Given the description of an element on the screen output the (x, y) to click on. 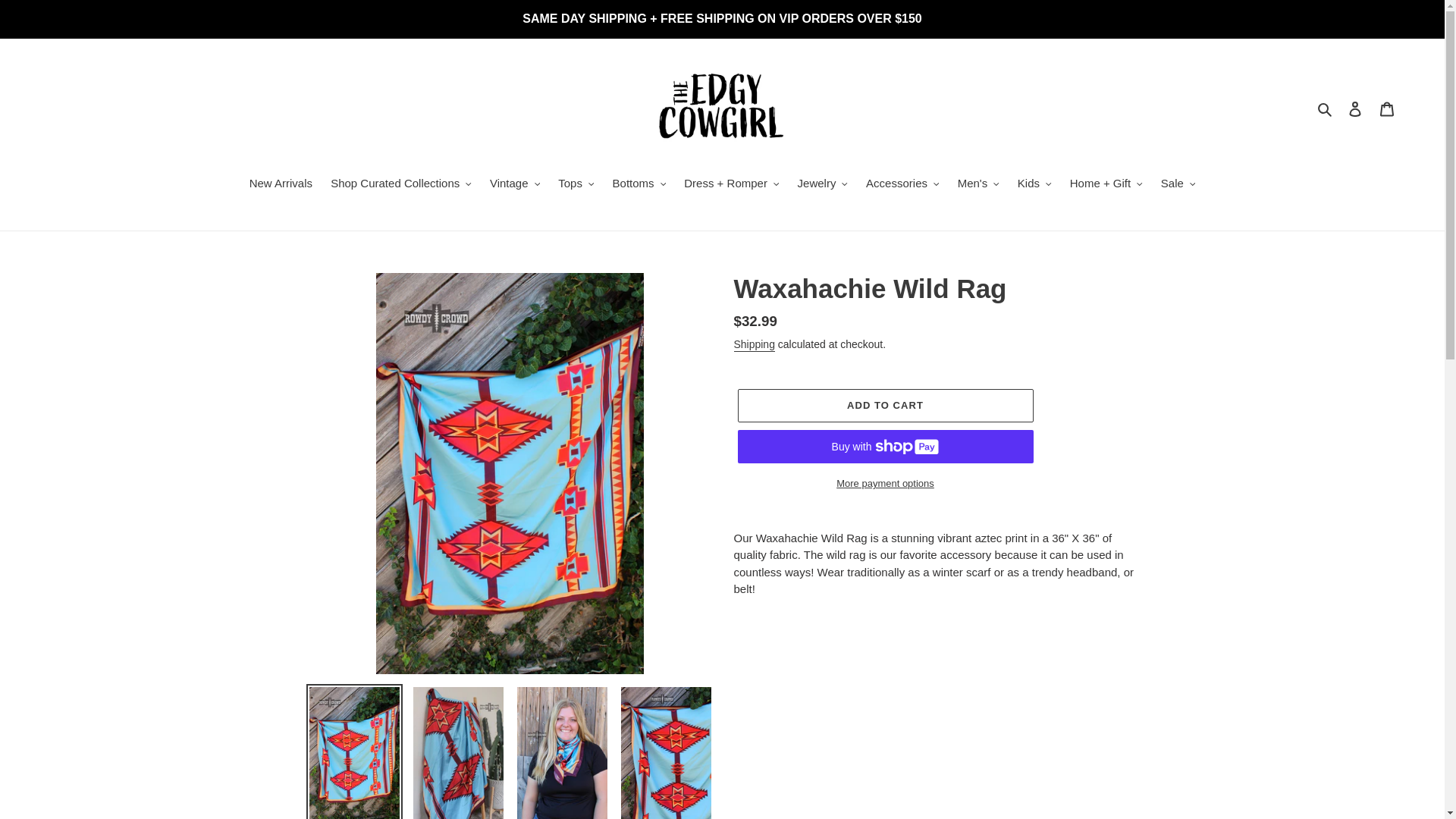
Log in (1355, 108)
Cart (1387, 108)
Search (1326, 108)
